Given the description of an element on the screen output the (x, y) to click on. 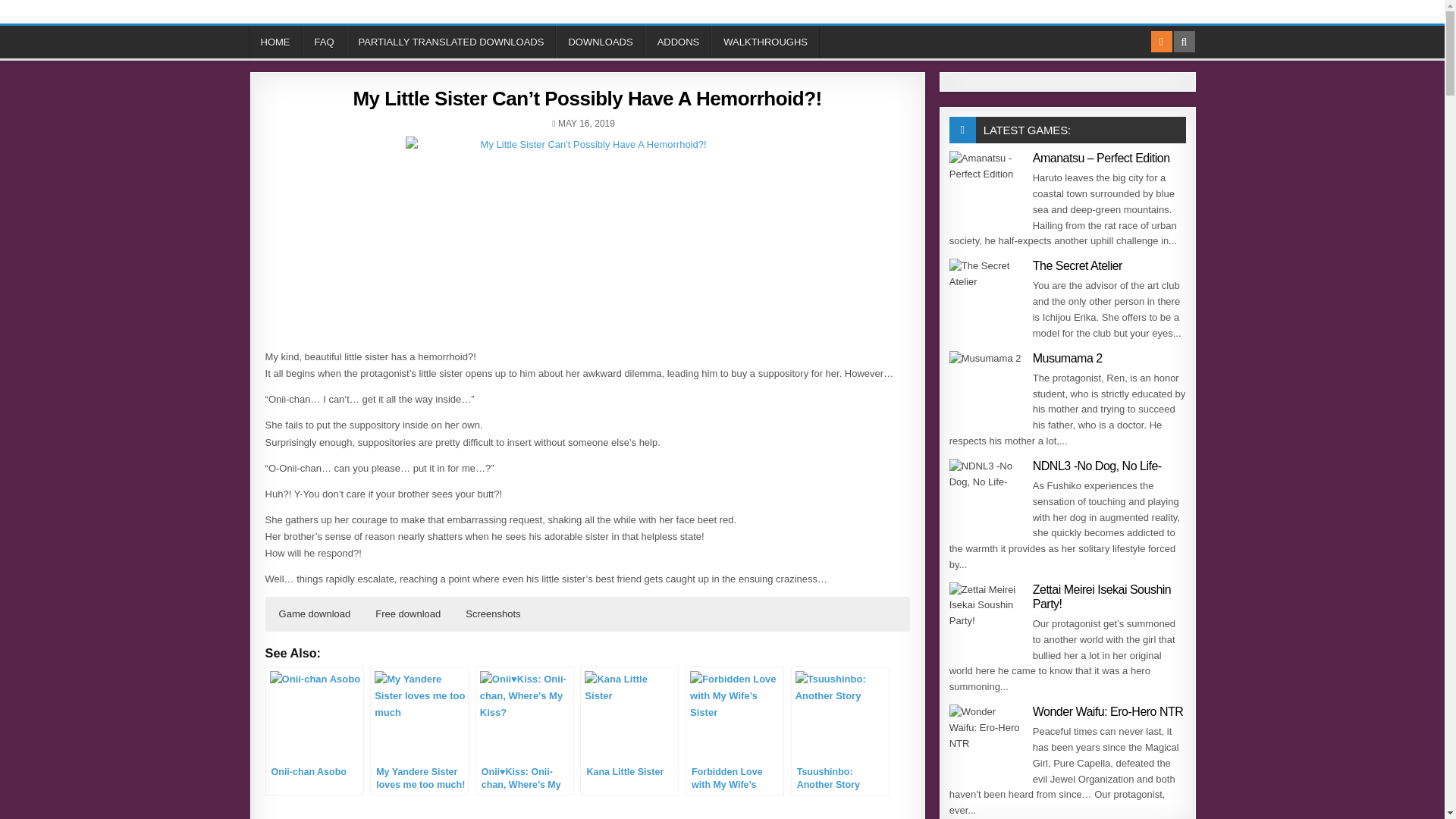
HOME (275, 41)
DOWNLOADS (600, 41)
Permanent Link to The Secret Atelier (987, 296)
Tsuushinbo: Another Story (839, 730)
My Yandere Sister loves me too much! (418, 730)
Onii-chan Asobo (314, 730)
Kana Little Sister (628, 730)
My Yandere Sister loves me too much! (418, 730)
Brocon Heroine (855, 818)
ADDONS (678, 41)
FAQ (323, 41)
Kana Little Sister (628, 730)
PARTIALLY TRANSLATED DOWNLOADS (451, 41)
